Given the description of an element on the screen output the (x, y) to click on. 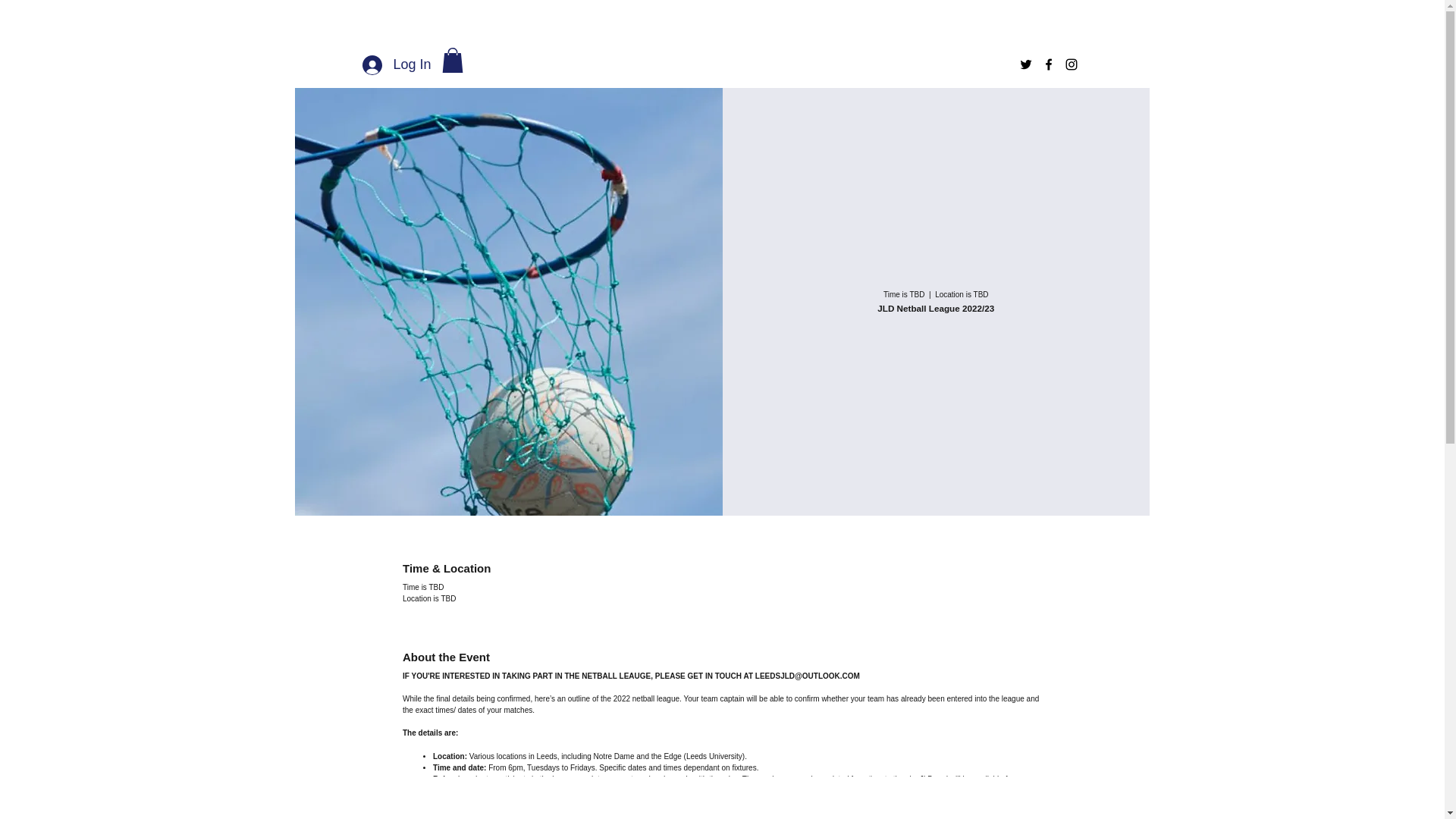
Log In (396, 64)
